Given the description of an element on the screen output the (x, y) to click on. 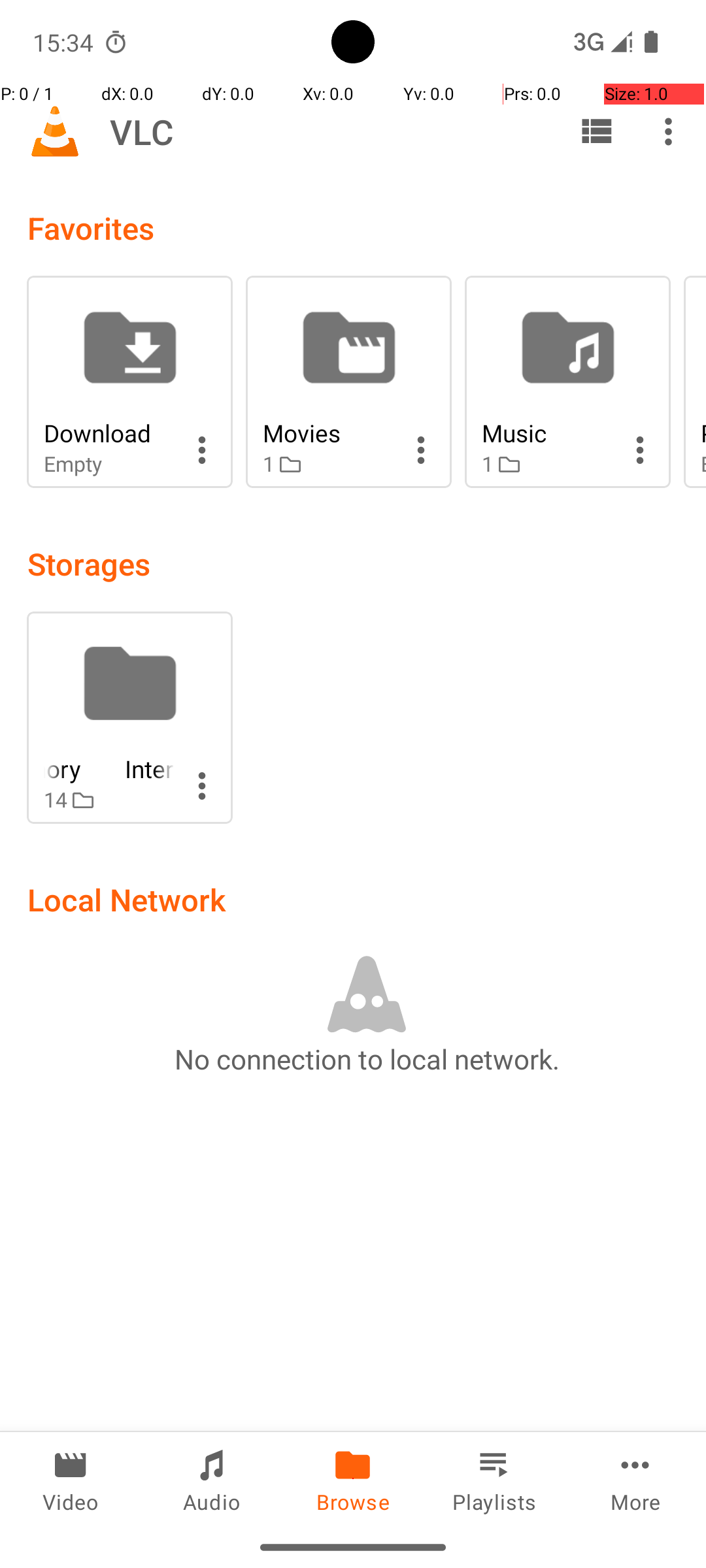
Folder: Internal memory, 14 subfolders Element type: androidx.cardview.widget.CardView (129, 717)
